Given the description of an element on the screen output the (x, y) to click on. 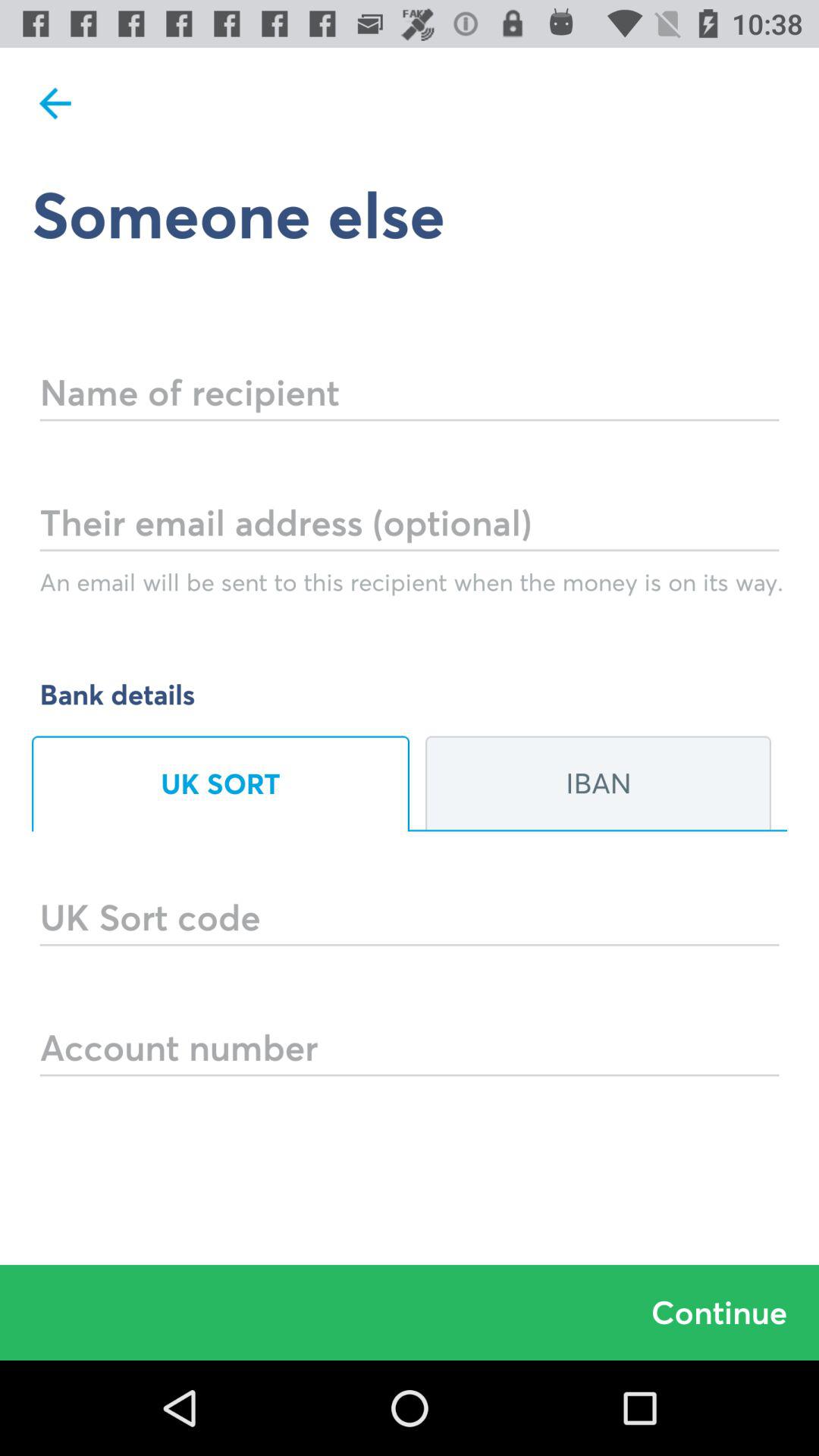
flip to the iban (598, 783)
